Given the description of an element on the screen output the (x, y) to click on. 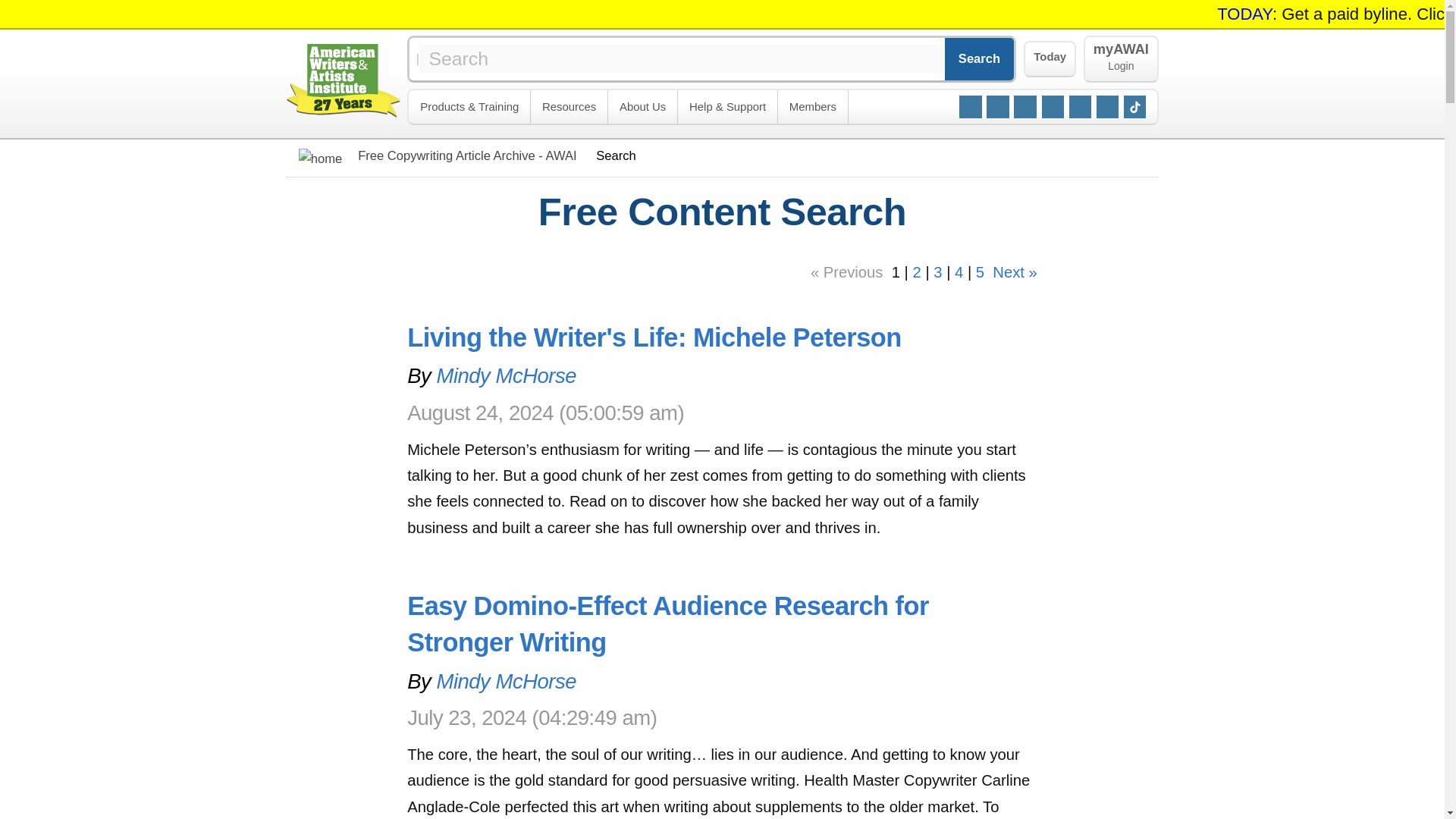
Search (979, 58)
Members (812, 107)
Today (1049, 58)
Resources (1120, 58)
About Us (569, 107)
